Given the description of an element on the screen output the (x, y) to click on. 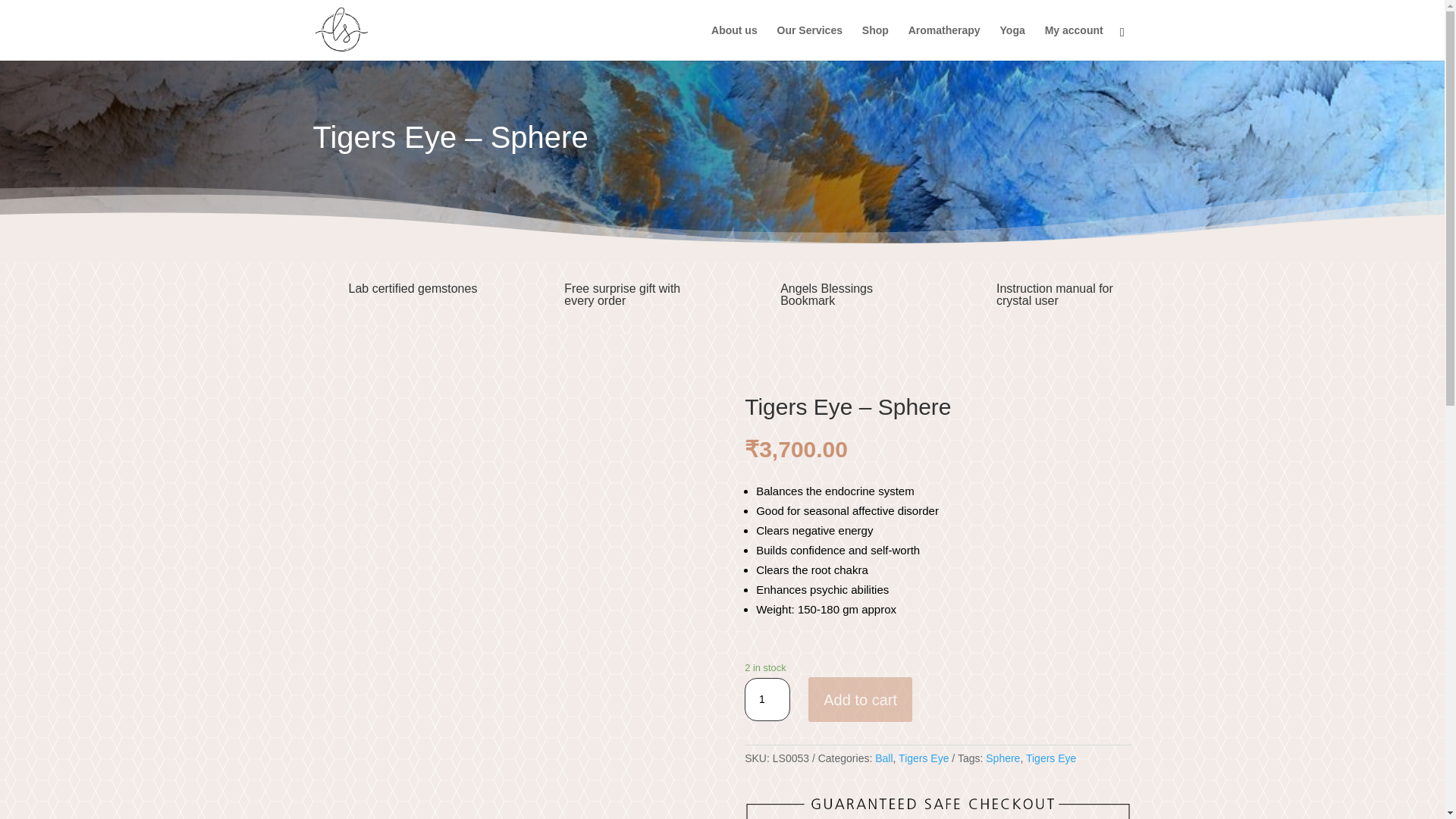
Aromatherapy (943, 42)
About us (734, 42)
My account (1074, 42)
Sphere (1002, 758)
Ball (883, 758)
Safecheckout (937, 804)
1 (767, 699)
Tigers Eye (1050, 758)
Our Services (810, 42)
Add to cart (860, 699)
